Given the description of an element on the screen output the (x, y) to click on. 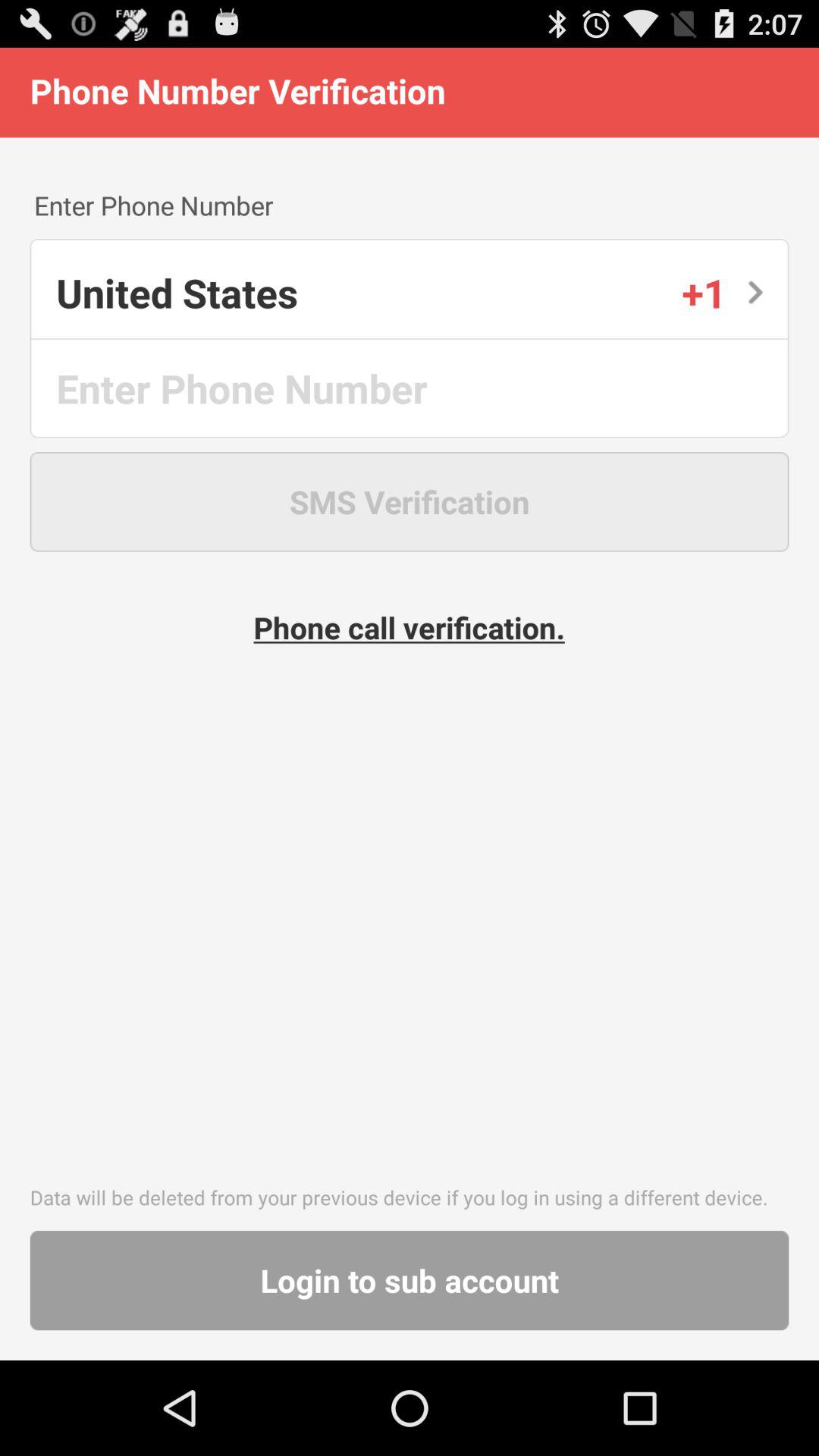
enter number (411, 387)
